Given the description of an element on the screen output the (x, y) to click on. 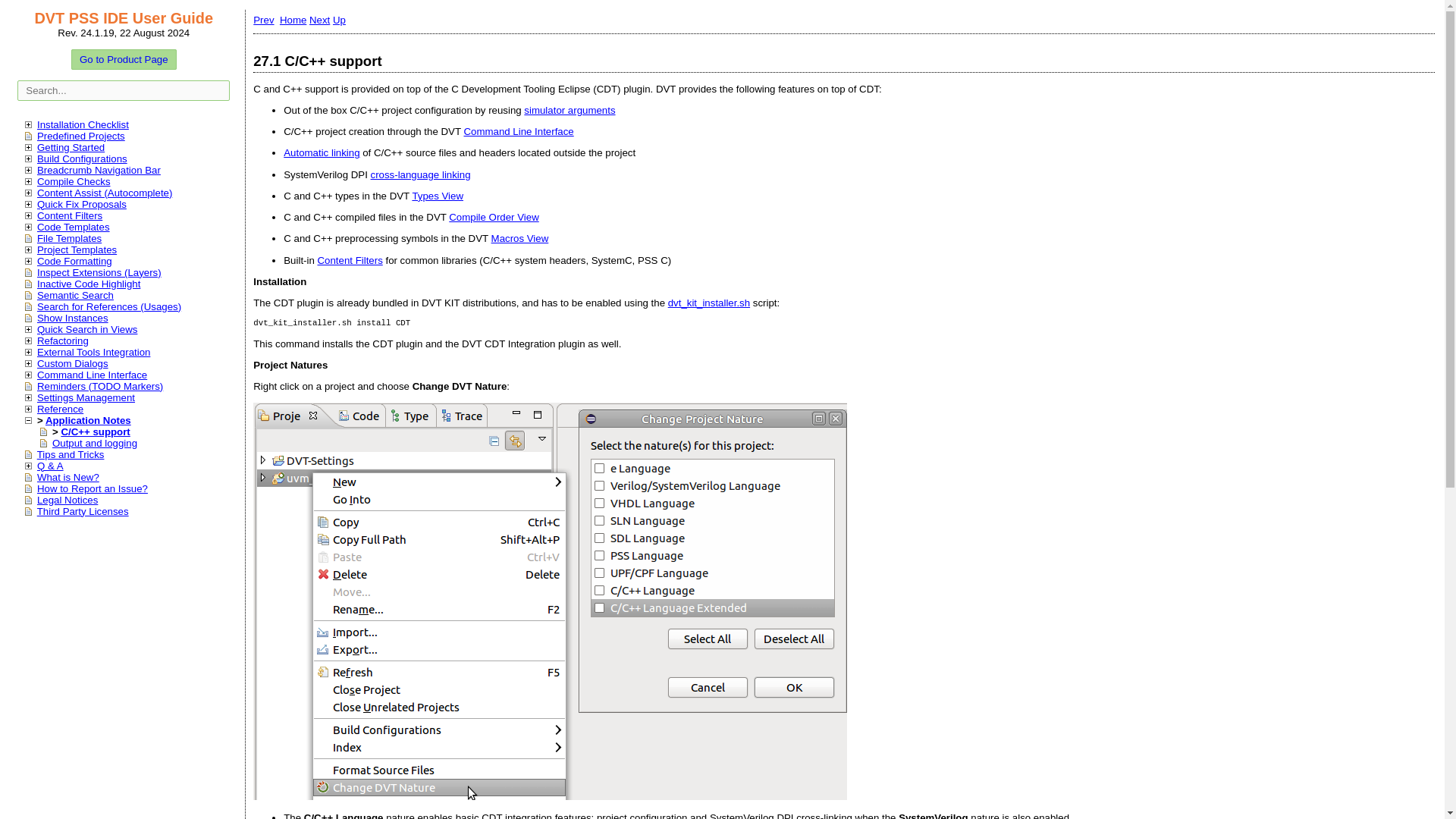
Installation Checklist (83, 124)
Getting Started (70, 147)
Predefined Projects (81, 135)
Build Configurations (82, 158)
